Given the description of an element on the screen output the (x, y) to click on. 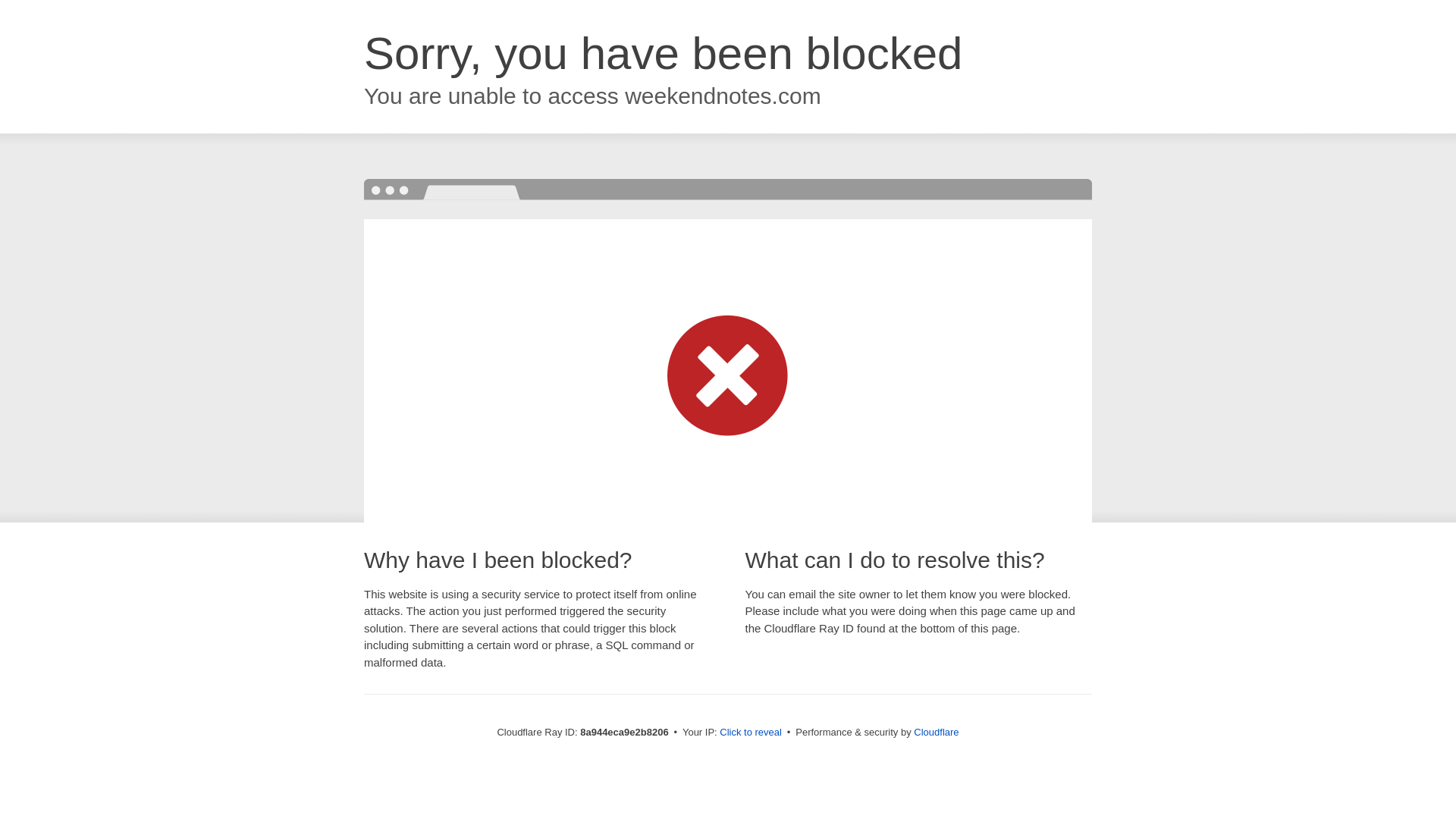
Cloudflare (936, 731)
Click to reveal (750, 732)
